Given the description of an element on the screen output the (x, y) to click on. 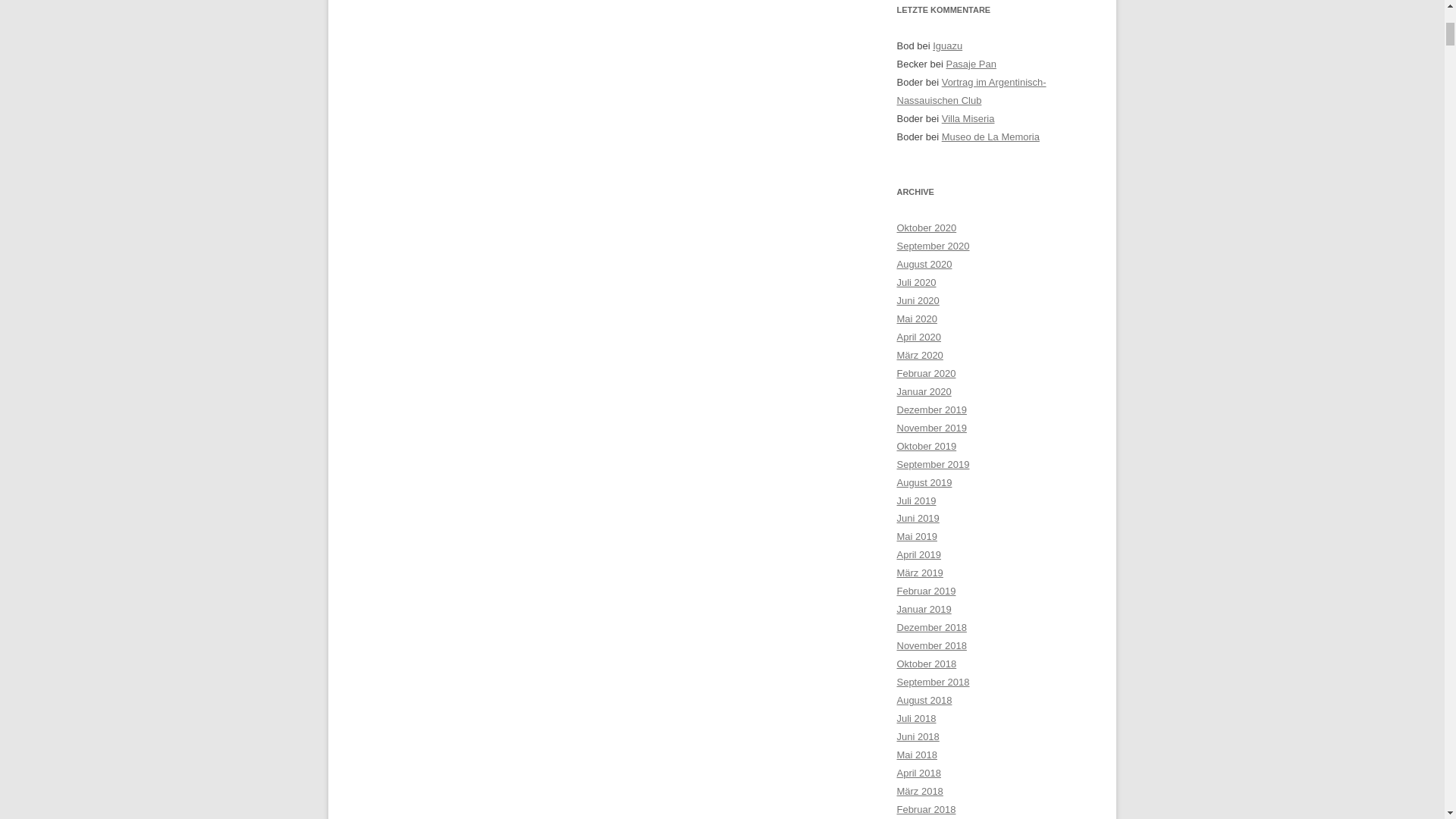
Oktober 2020 (926, 227)
November 2019 (931, 428)
August 2020 (924, 264)
Dezember 2019 (931, 409)
Juli 2020 (916, 282)
Februar 2020 (925, 373)
Mai 2020 (916, 318)
Pasaje Pan (969, 63)
April 2020 (918, 337)
Vortrag im Argentinisch-Nassauischen Club (970, 91)
